Given the description of an element on the screen output the (x, y) to click on. 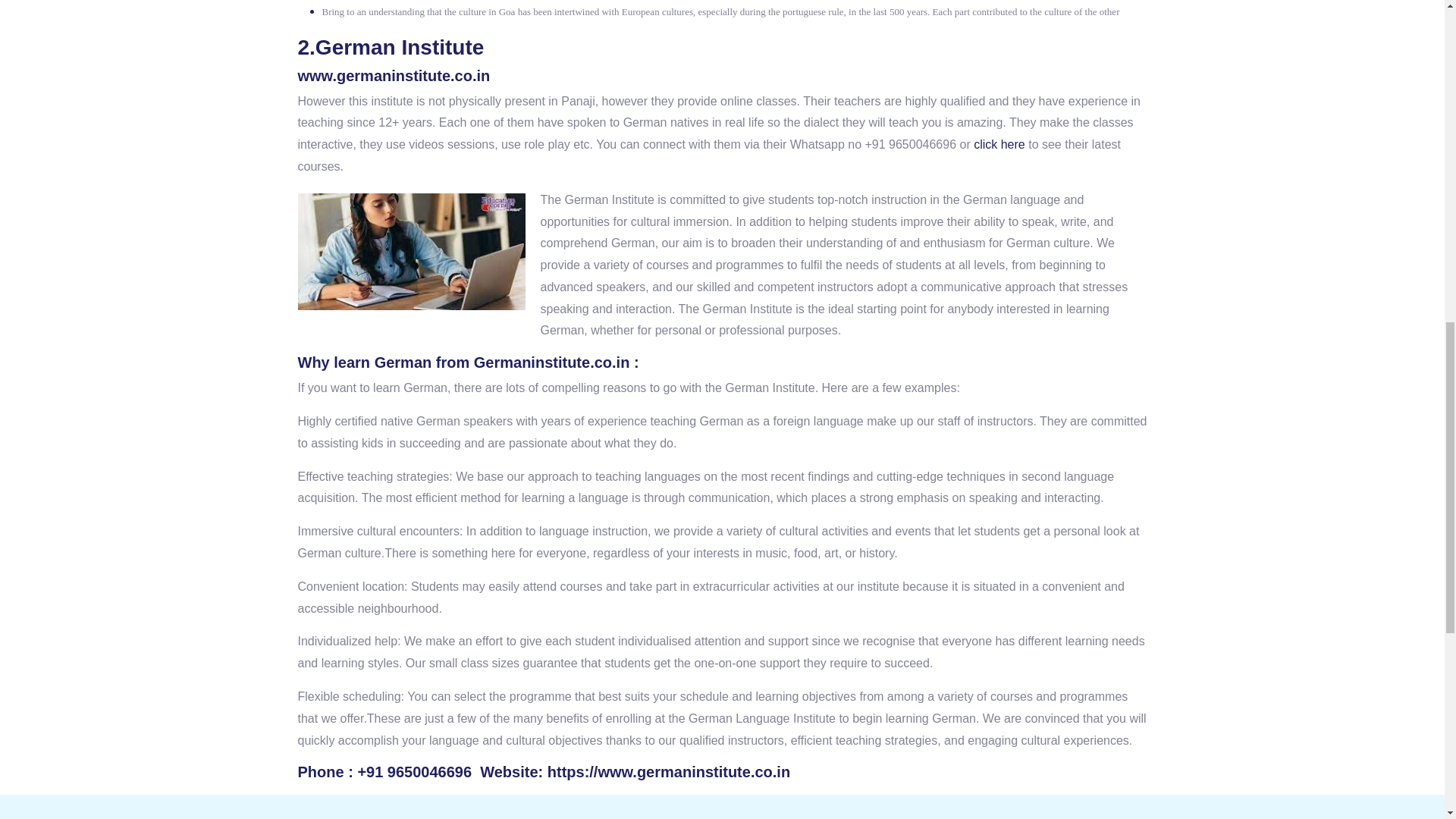
Why learn German from Germaninstitute.co.in : (468, 362)
www.germaninstitute.co.in (393, 75)
click here (999, 144)
